Given the description of an element on the screen output the (x, y) to click on. 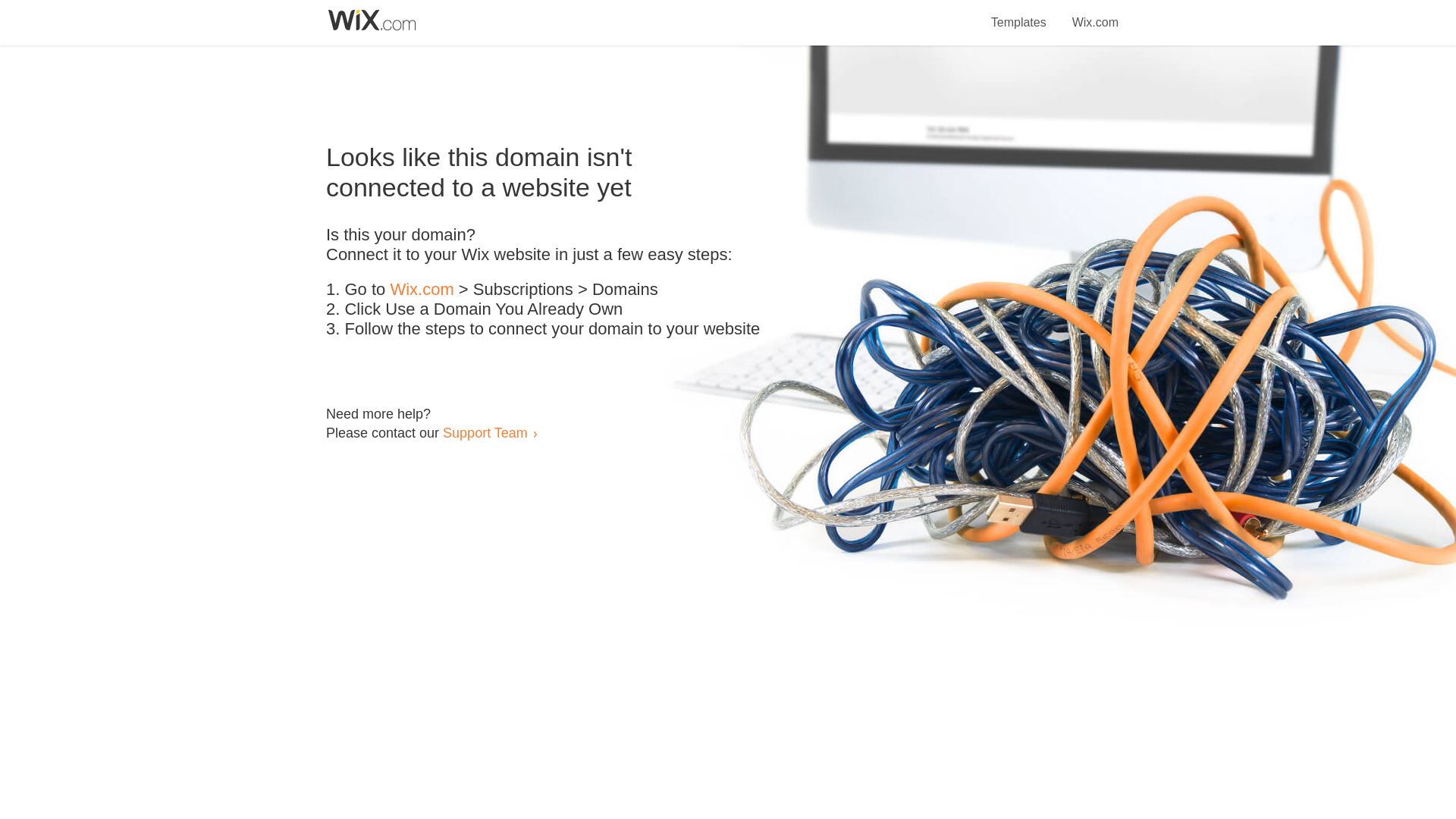
Support Team (484, 432)
Wix.com (421, 289)
Templates (1018, 14)
Wix.com (1095, 14)
